Given the description of an element on the screen output the (x, y) to click on. 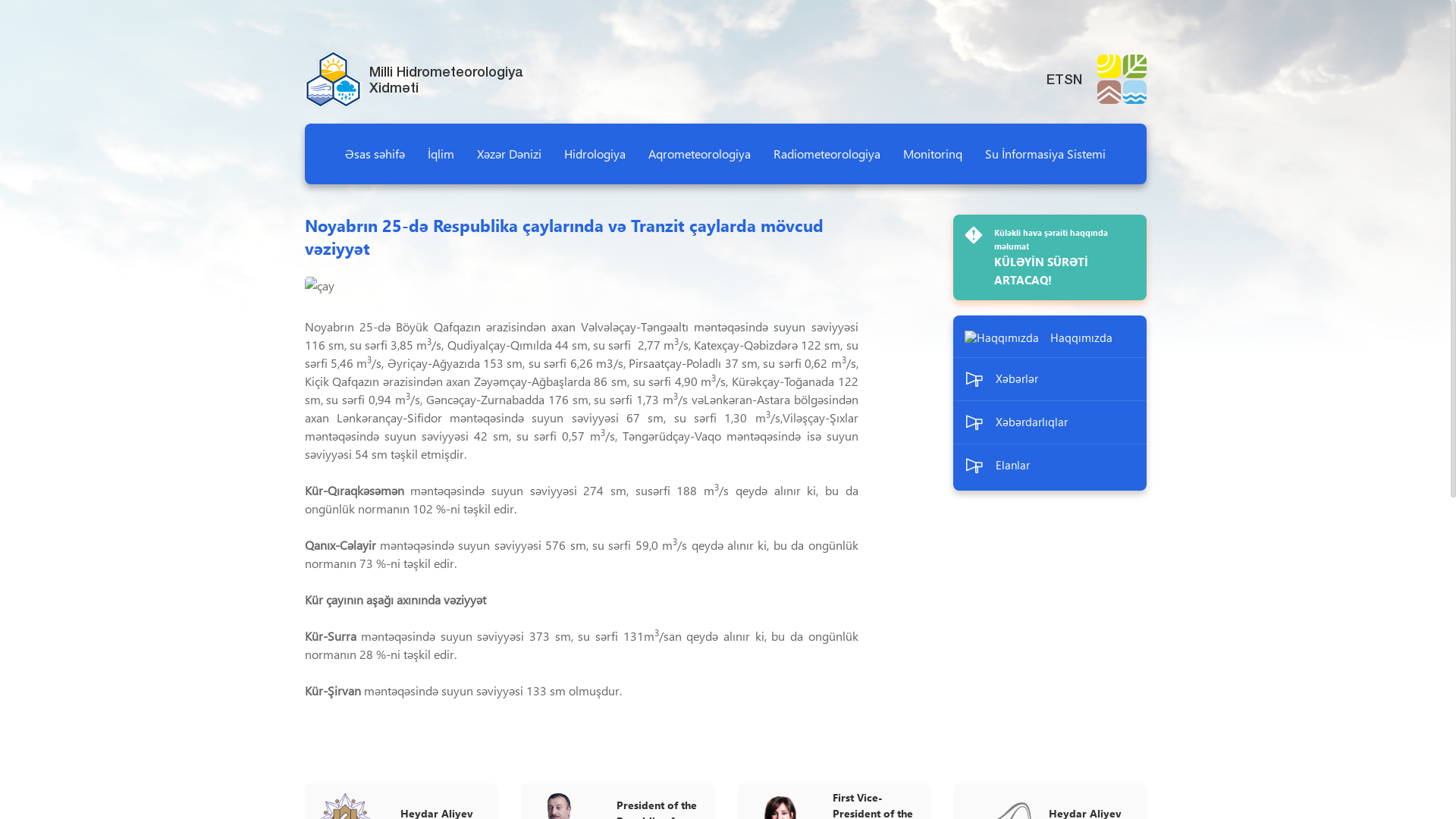
Aqrometeorologiya Element type: text (699, 153)
  Element type: text (1144, 19)
Elanlar Element type: text (1049, 465)
ETSN Element type: text (1092, 78)
Hidrologiya Element type: text (594, 153)
Monitorinq Element type: text (932, 153)
Radiometeorologiya Element type: text (826, 153)
